Given the description of an element on the screen output the (x, y) to click on. 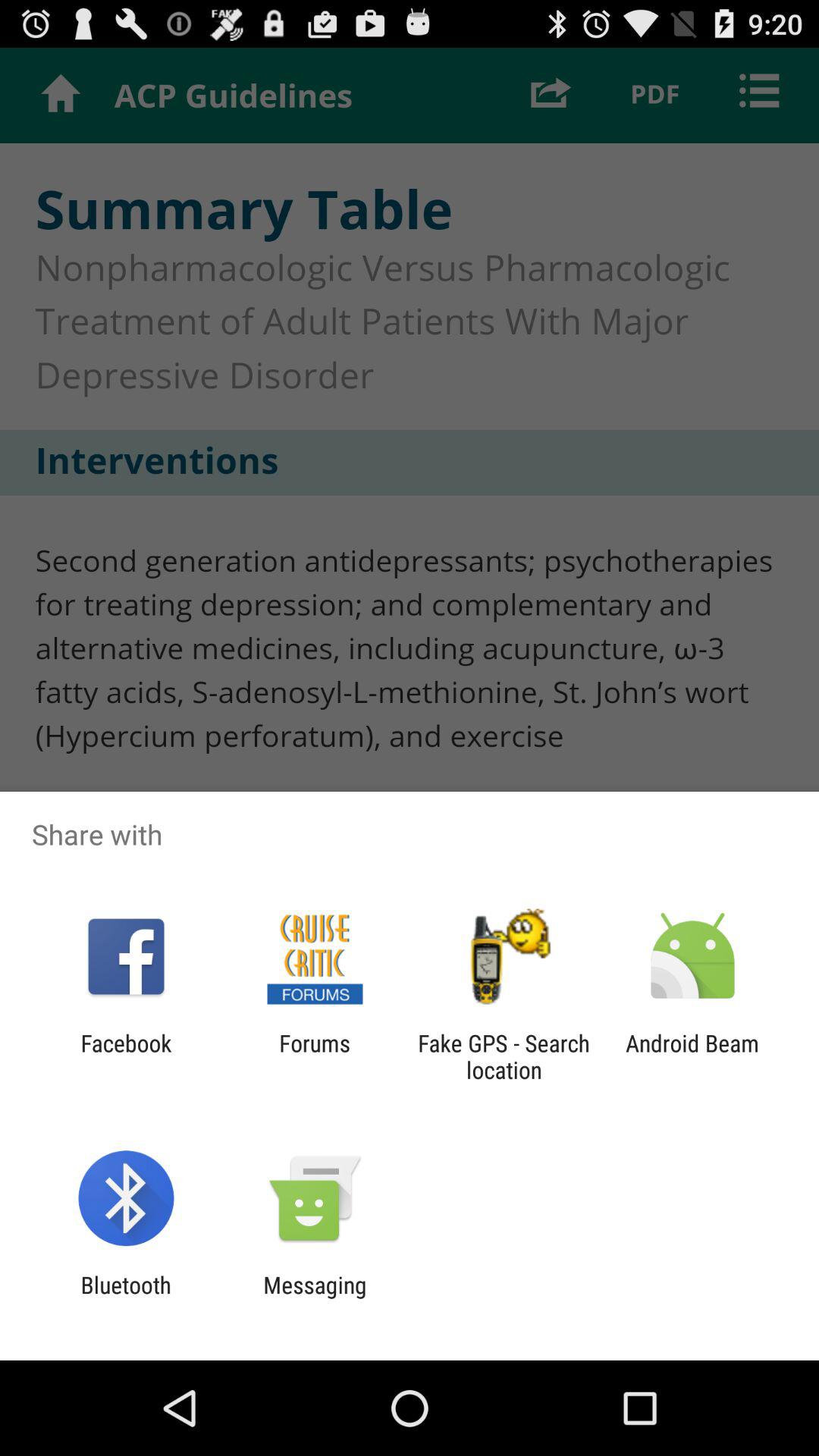
swipe until android beam item (692, 1056)
